Given the description of an element on the screen output the (x, y) to click on. 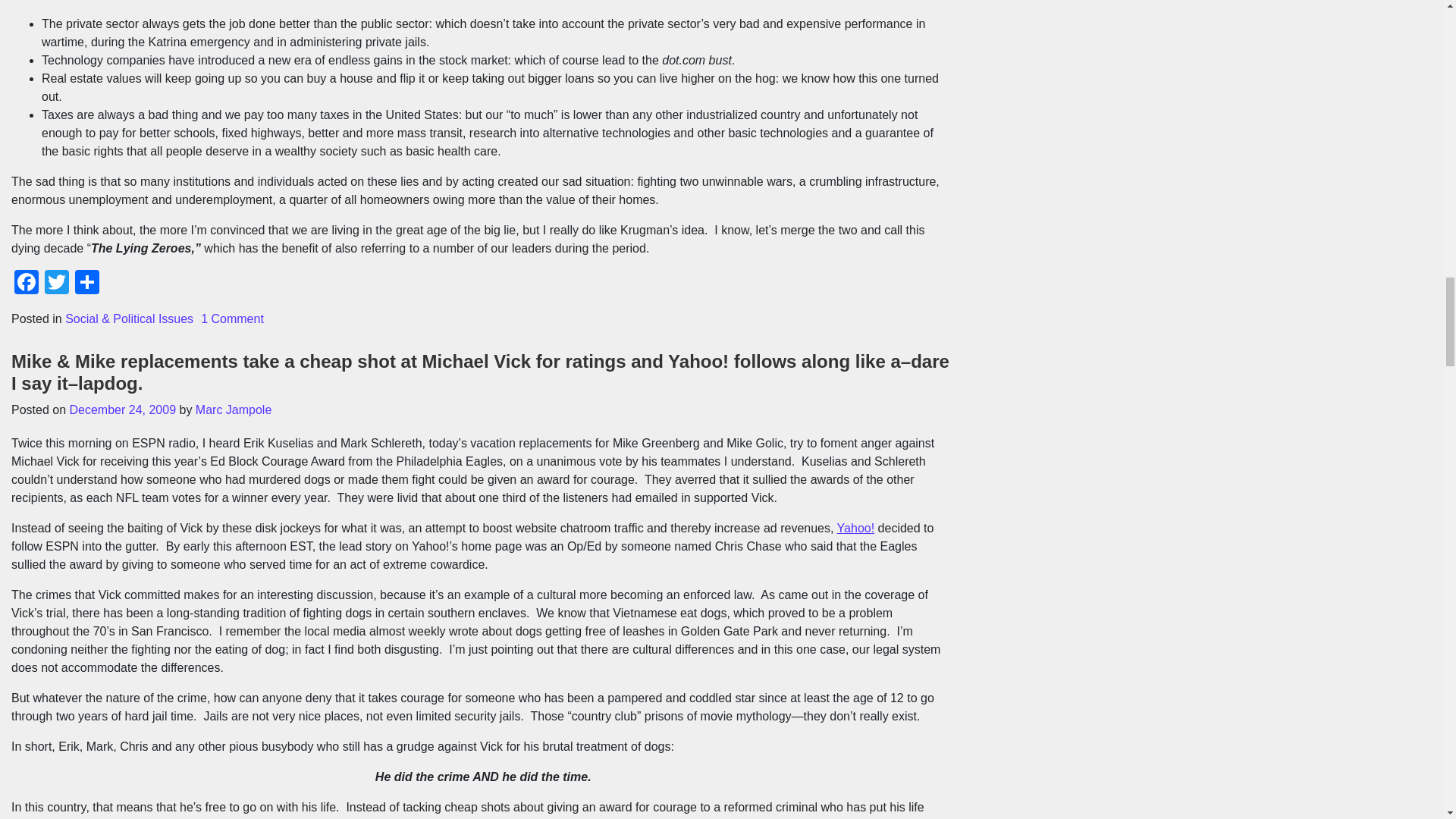
Twitter (56, 284)
Facebook (26, 284)
Facebook (26, 284)
Twitter (56, 284)
